Given the description of an element on the screen output the (x, y) to click on. 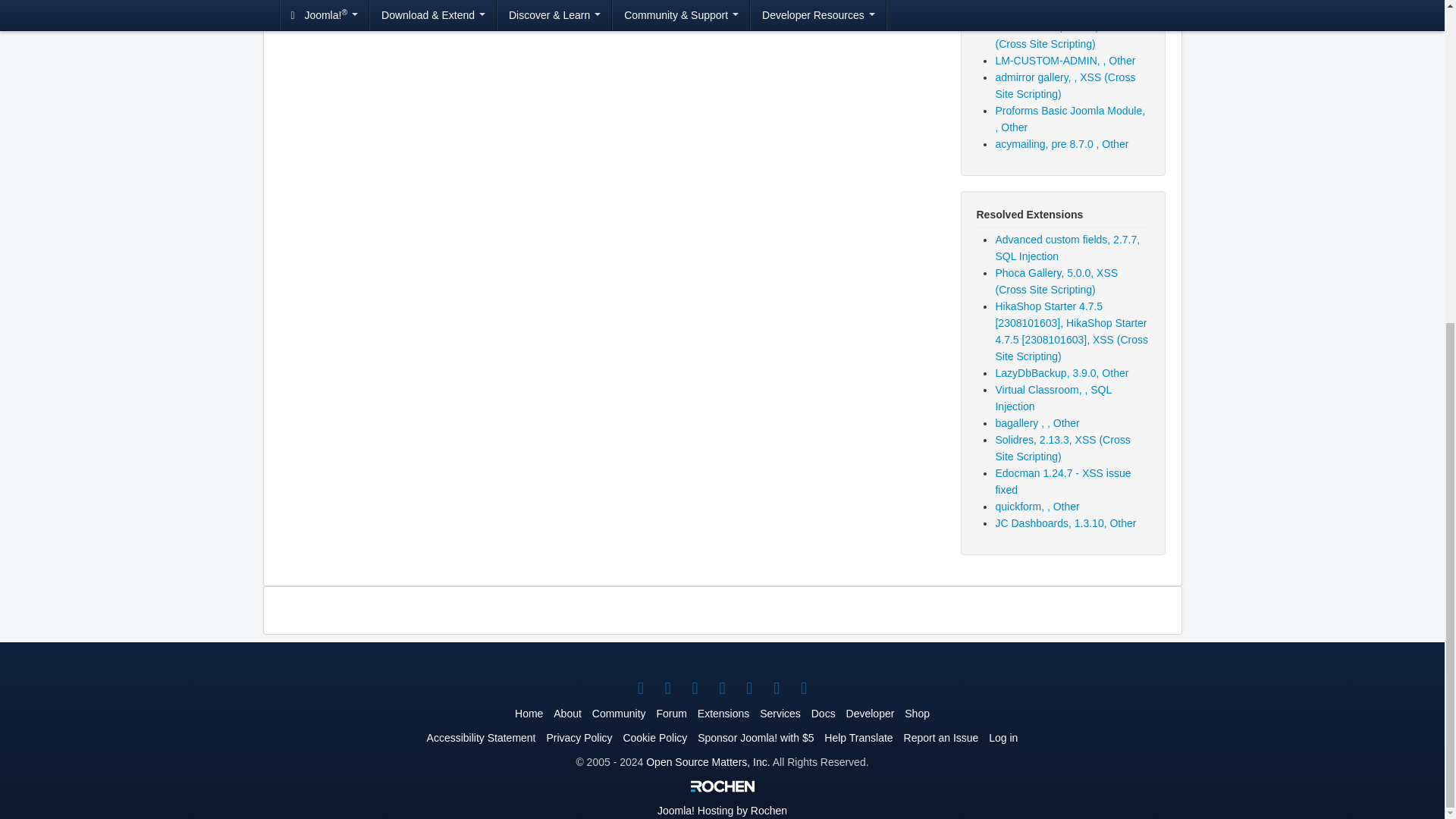
Joomla! on Pinterest (748, 688)
Joomla! on YouTube (694, 688)
Joomla! on GitHub (803, 688)
Joomla! on Facebook (667, 688)
Joomla! on LinkedIn (721, 688)
Joomla! on Instagram (776, 688)
Joomla! on Twitter (640, 688)
